Given the description of an element on the screen output the (x, y) to click on. 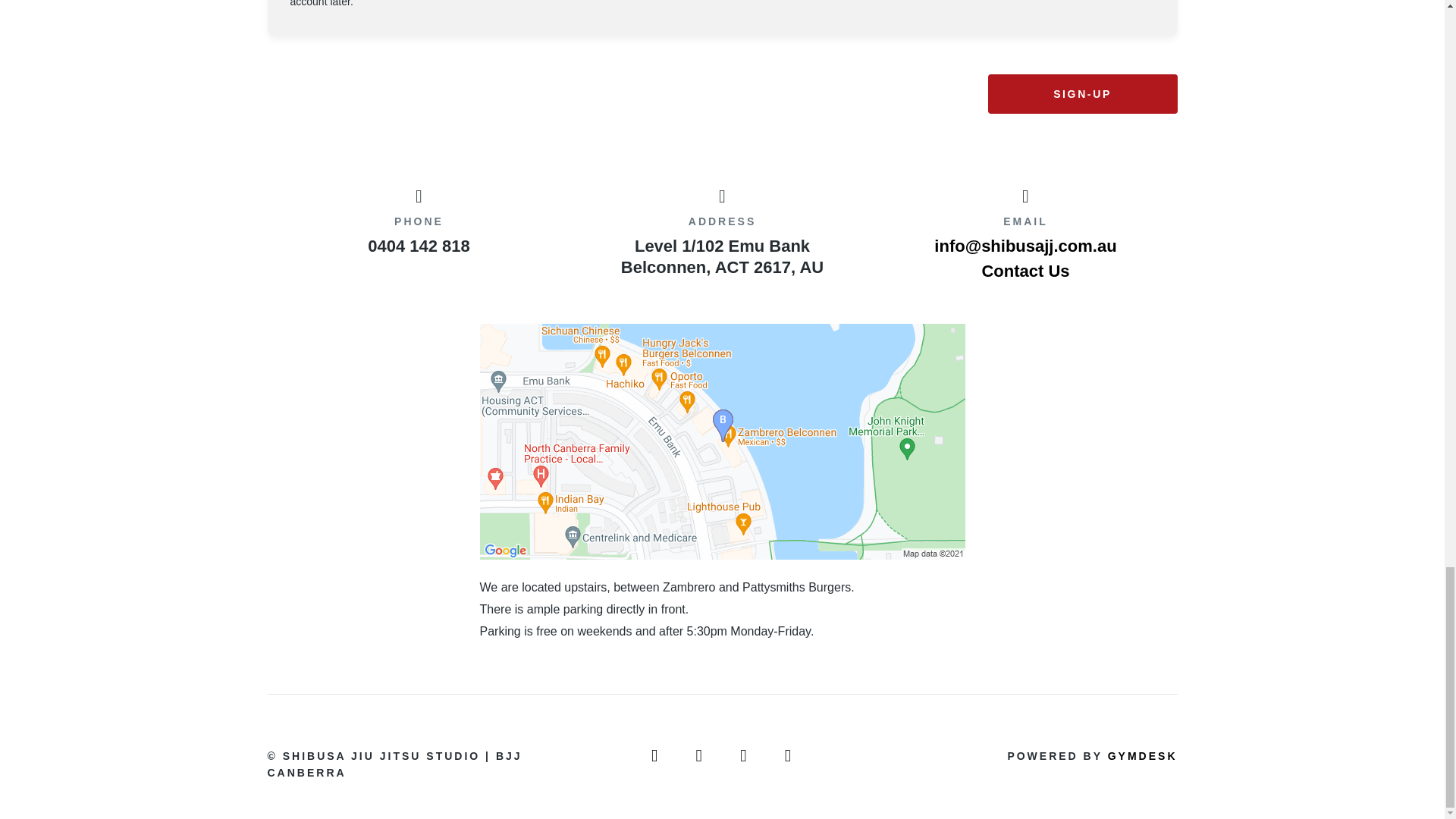
Youtube (655, 755)
Instagram (789, 755)
Twitter (744, 755)
Facebook (700, 755)
SIGN-UP (1081, 93)
Contact Us (1024, 270)
